Given the description of an element on the screen output the (x, y) to click on. 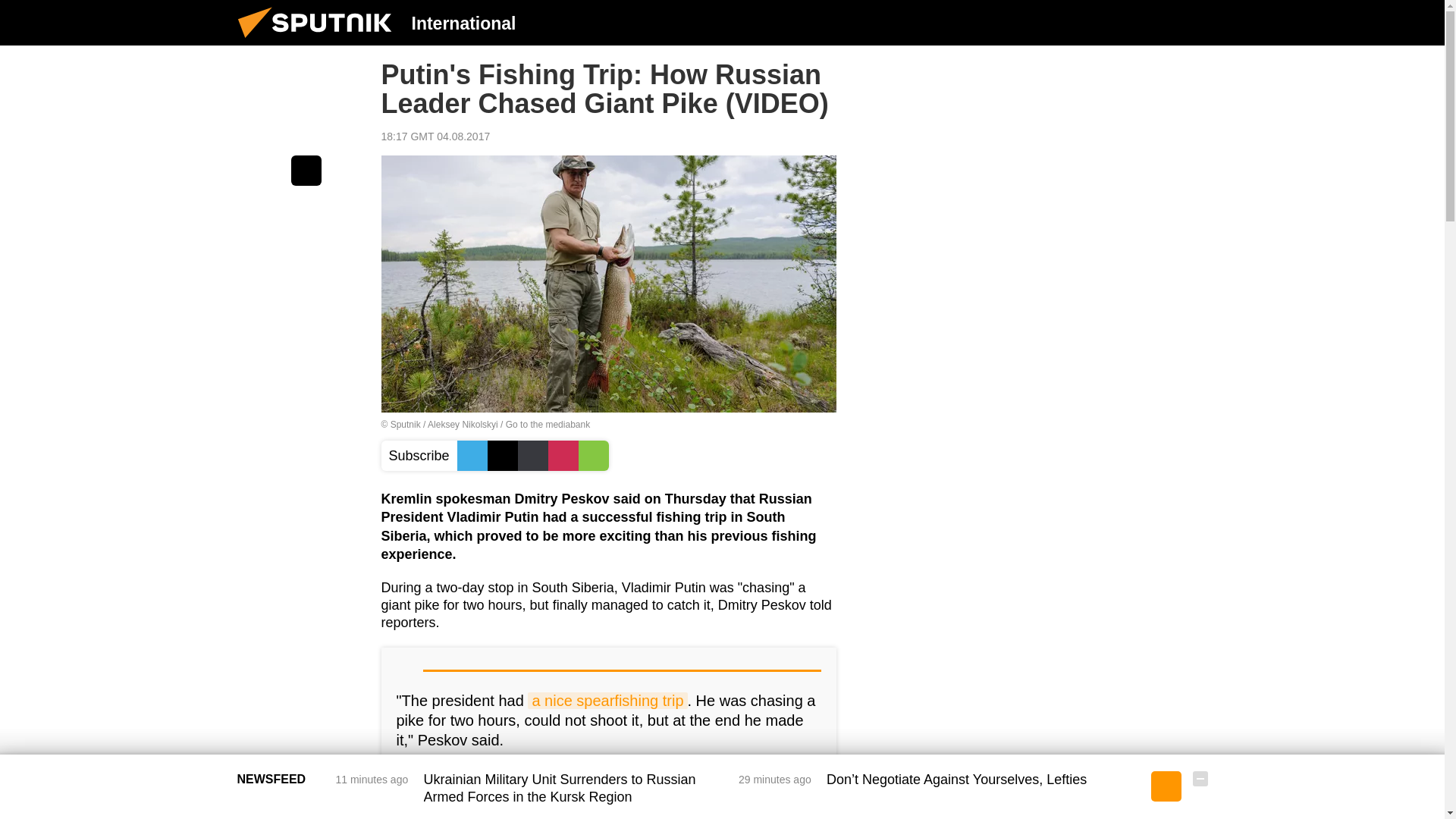
Sputnik International (319, 41)
Authorization (1123, 22)
Chats (1199, 22)
